Given the description of an element on the screen output the (x, y) to click on. 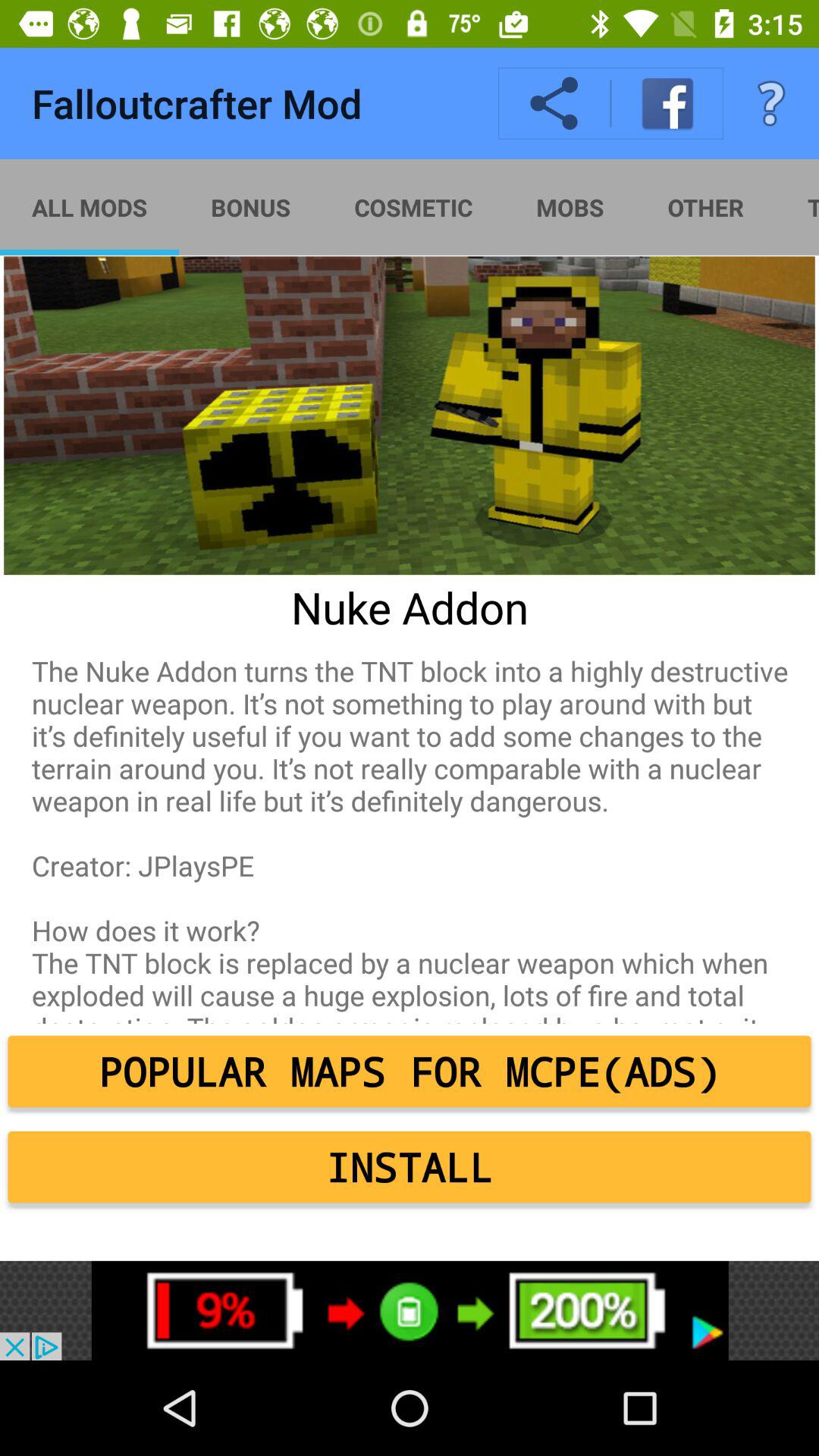
adiveristment (409, 1310)
